Given the description of an element on the screen output the (x, y) to click on. 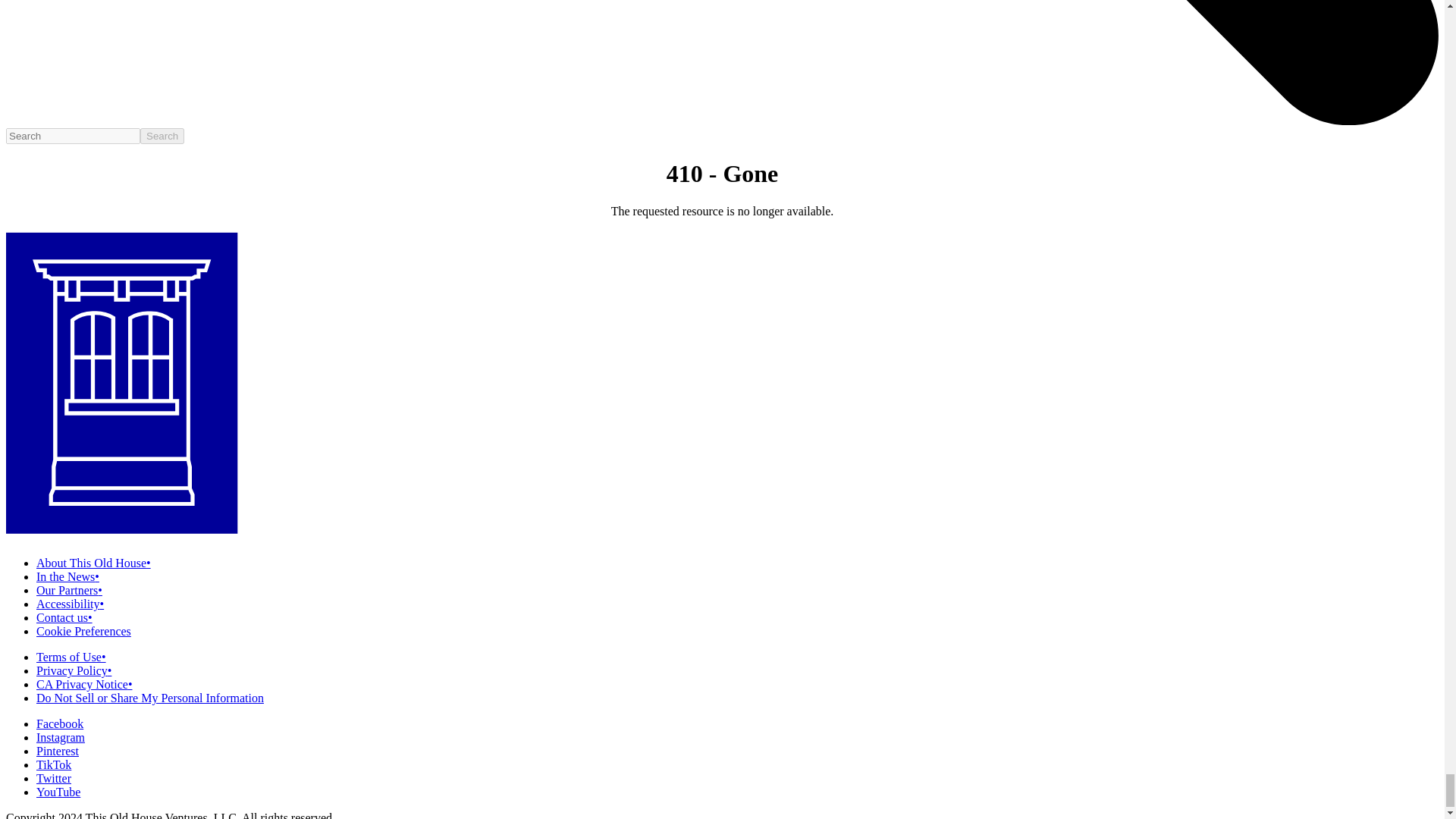
Search (161, 135)
